Given the description of an element on the screen output the (x, y) to click on. 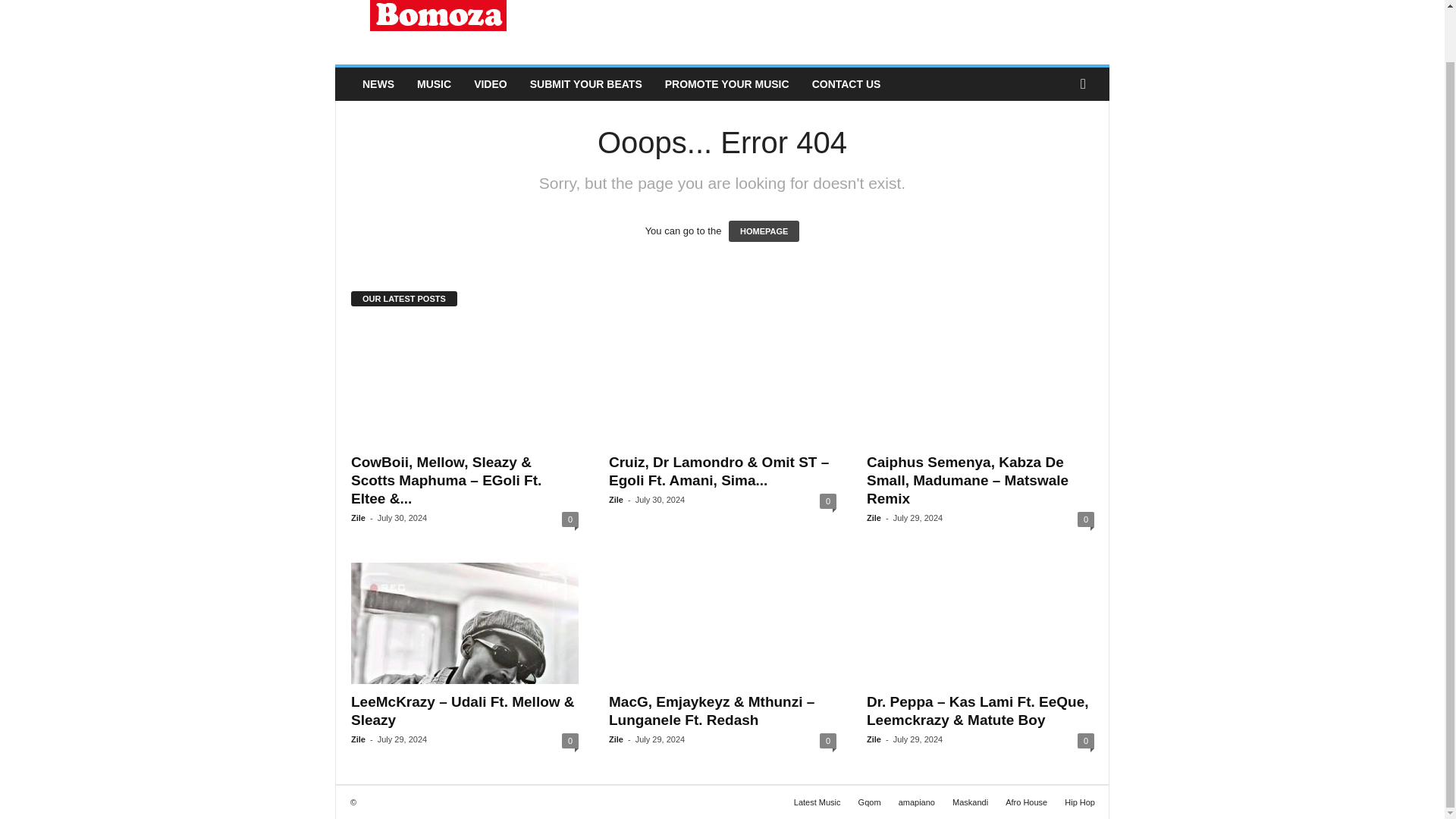
VIDEO (490, 83)
MUSIC (434, 83)
Bomoza (437, 29)
SUBMIT YOUR BEATS (585, 83)
0 (1085, 519)
0 (827, 500)
HOMEPAGE (764, 230)
Zile (873, 517)
0 (570, 519)
PROMOTE YOUR MUSIC (726, 83)
0 (570, 740)
CONTACT US (846, 83)
NEWS (378, 83)
Zile (357, 738)
Zile (357, 517)
